Given the description of an element on the screen output the (x, y) to click on. 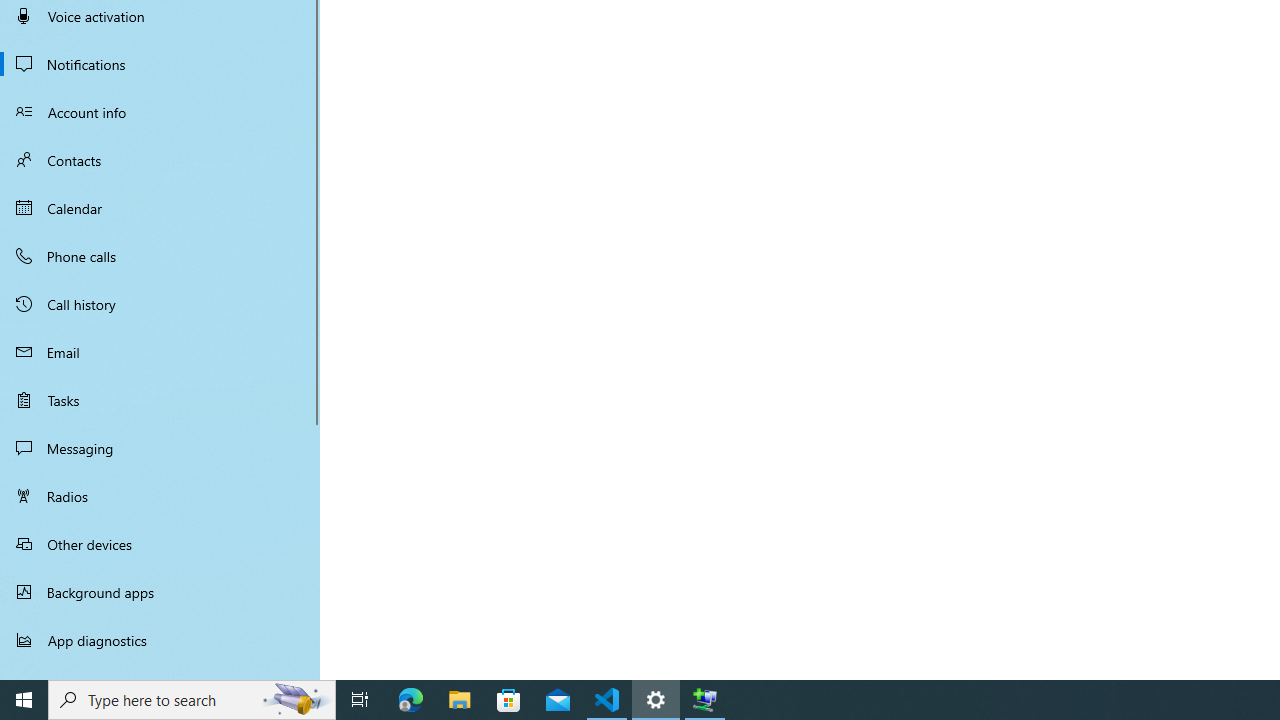
Messaging (160, 448)
Account info (160, 111)
Call history (160, 304)
Extensible Wizards Host Process - 1 running window (704, 699)
Calendar (160, 207)
App diagnostics (160, 639)
